Given the description of an element on the screen output the (x, y) to click on. 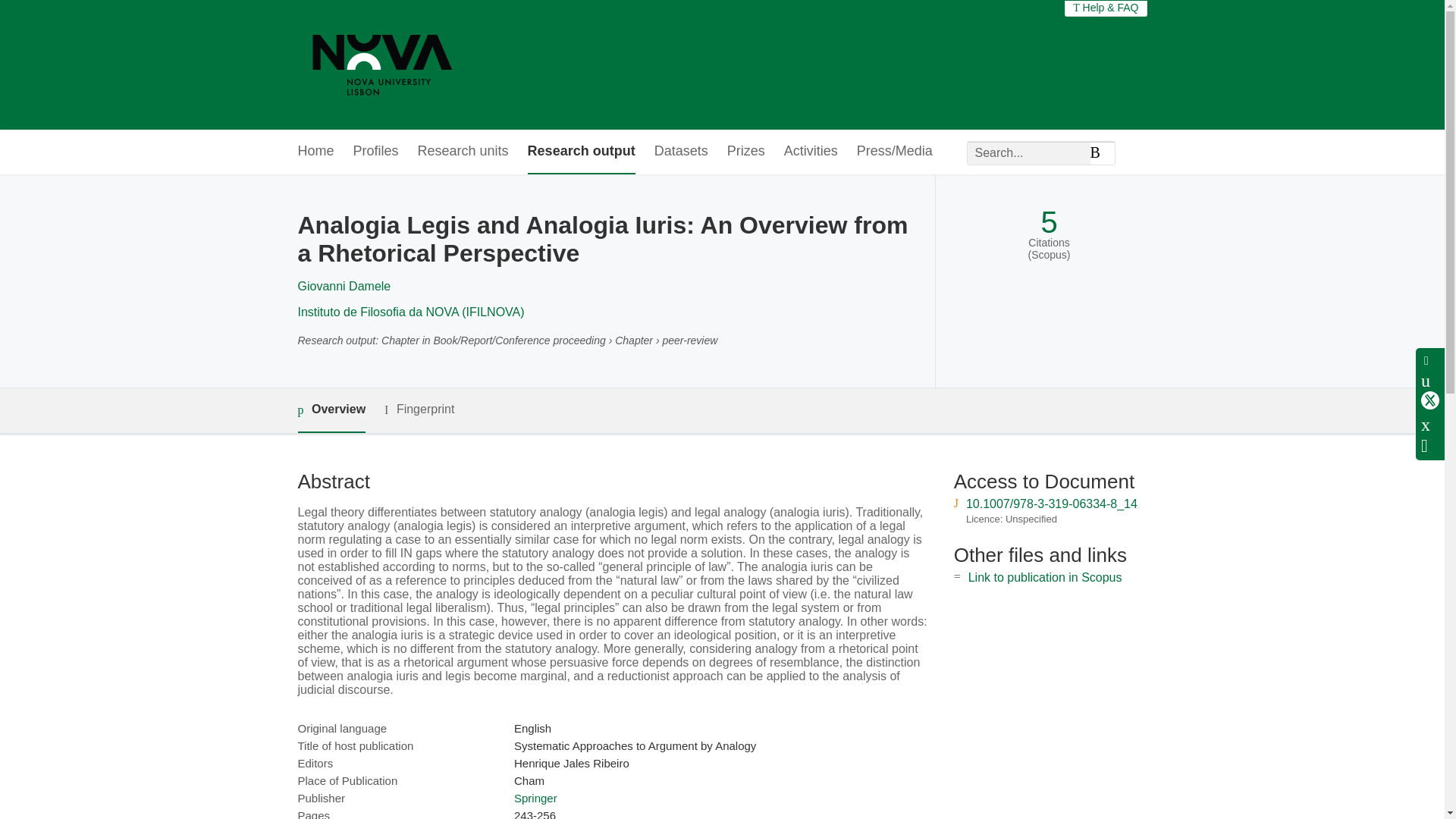
Overview (331, 410)
Profiles (375, 151)
Datasets (680, 151)
Link to publication in Scopus (1045, 576)
Fingerprint (419, 409)
Universidade NOVA de Lisboa Home (382, 64)
Giovanni Damele (343, 286)
Springer (535, 797)
Research units (462, 151)
